Given the description of an element on the screen output the (x, y) to click on. 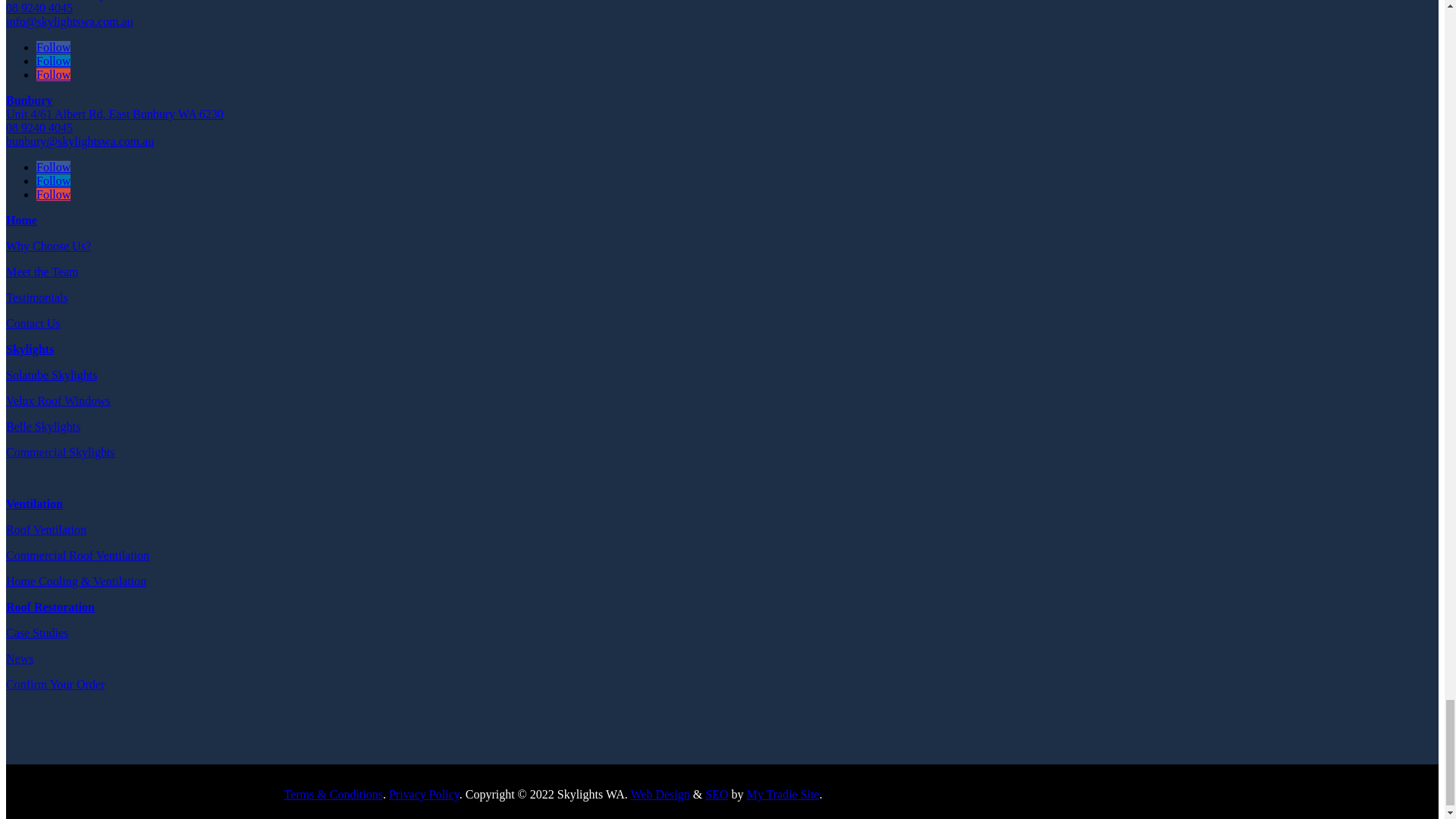
Follow on LinkedIn (52, 60)
Follow on google-plus (52, 74)
Follow on LinkedIn (52, 180)
Follow on Facebook (52, 47)
Follow on google-plus (52, 194)
Follow on Facebook (52, 166)
